Given the description of an element on the screen output the (x, y) to click on. 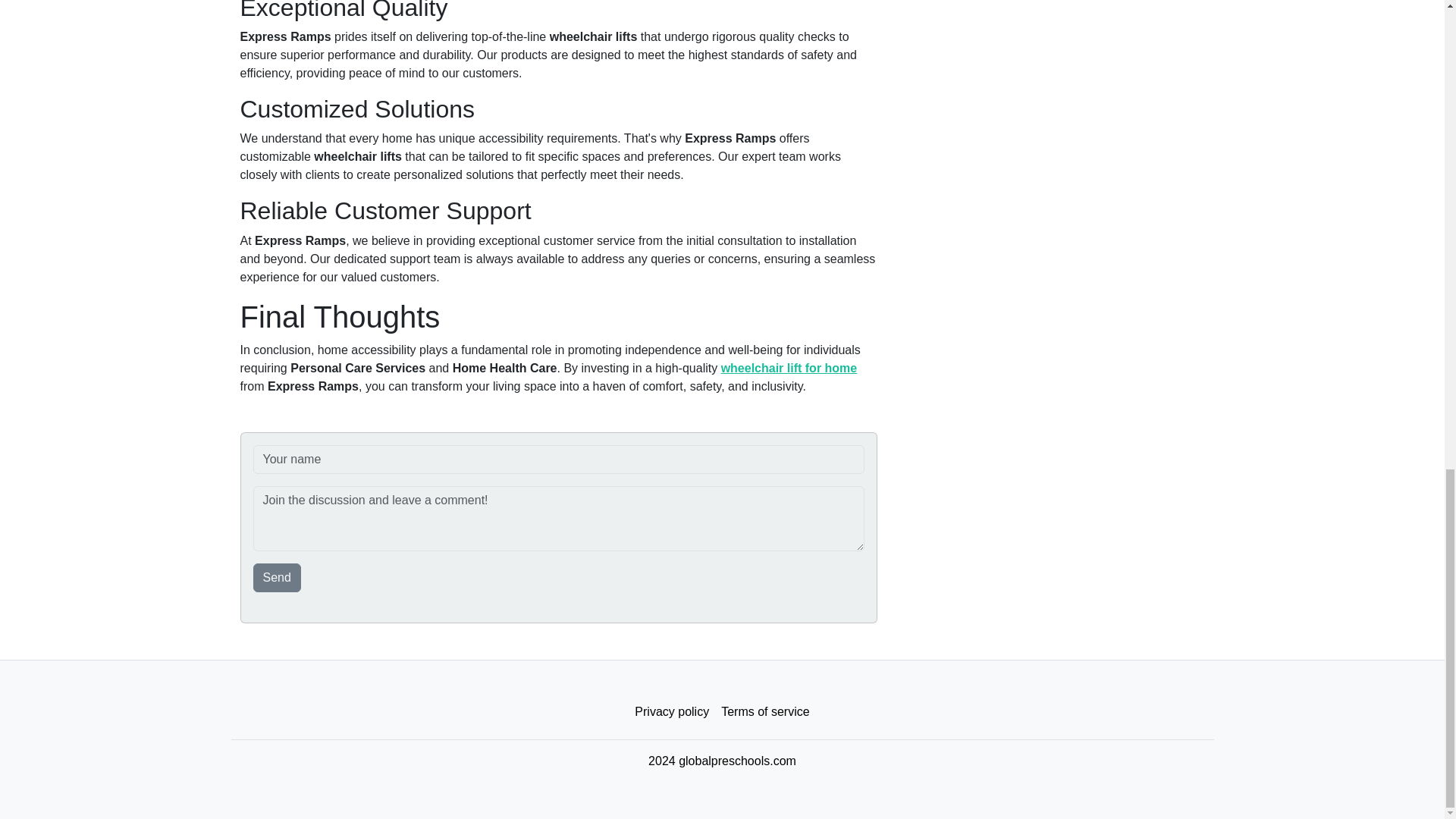
Send (277, 577)
Terms of service (764, 711)
Privacy policy (671, 711)
Send (277, 577)
wheelchair lift for home (788, 367)
